Given the description of an element on the screen output the (x, y) to click on. 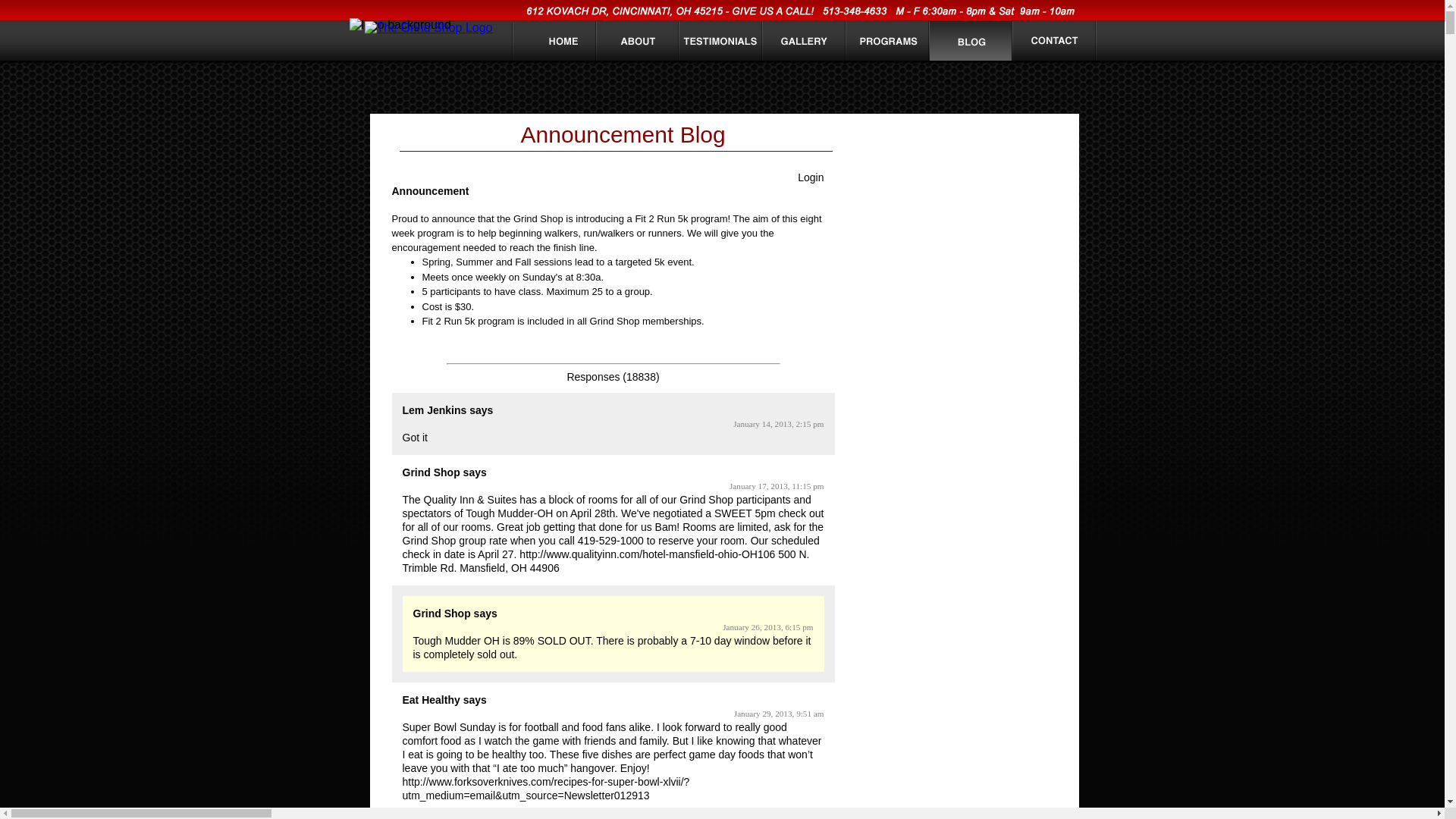
PROGRAMS Element type: hover (888, 46)
Announcement Element type: text (429, 191)
MEMBERS LOGIN Element type: hover (970, 209)
ABOUT Element type: hover (638, 46)
Eat Healthy Element type: text (430, 699)
CLICK HERE Element type: hover (971, 403)
Gallery Element type: hover (804, 46)
youtube Element type: hover (1052, 133)
Login Element type: text (810, 177)
HOME Element type: hover (564, 46)
SIGN UP HERE Element type: hover (972, 172)
calendar Element type: hover (971, 256)
Event Videos Element type: hover (970, 492)
address Element type: hover (802, 11)
Twitter Element type: hover (1022, 133)
TESTIMONIALS Element type: hover (719, 46)
Grind Shop Element type: text (430, 471)
blog Element type: hover (970, 46)
Facebook Element type: hover (992, 133)
Training Videos Element type: hover (970, 452)
CONTACT Element type: hover (1054, 46)
